Given the description of an element on the screen output the (x, y) to click on. 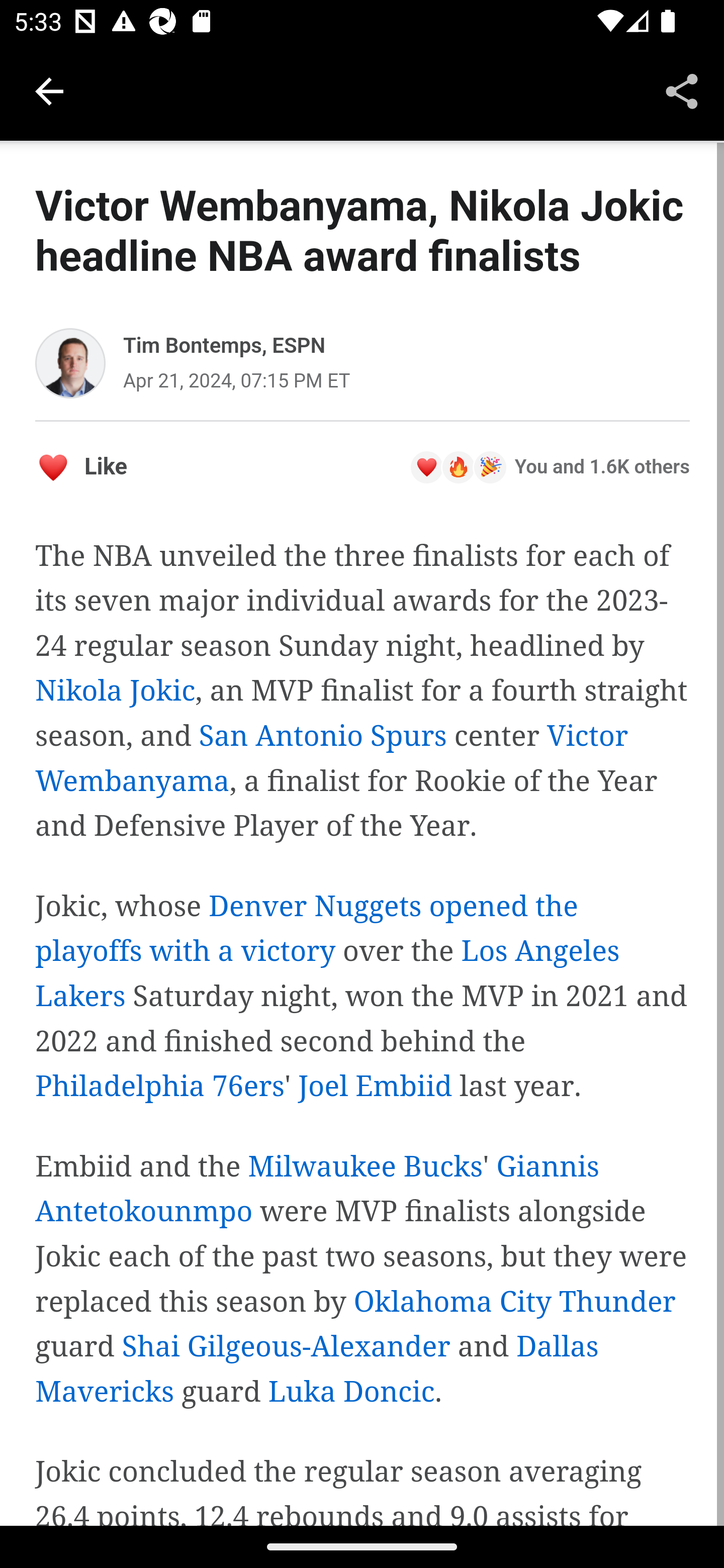
Navigate up (49, 91)
Share (681, 90)
